Given the description of an element on the screen output the (x, y) to click on. 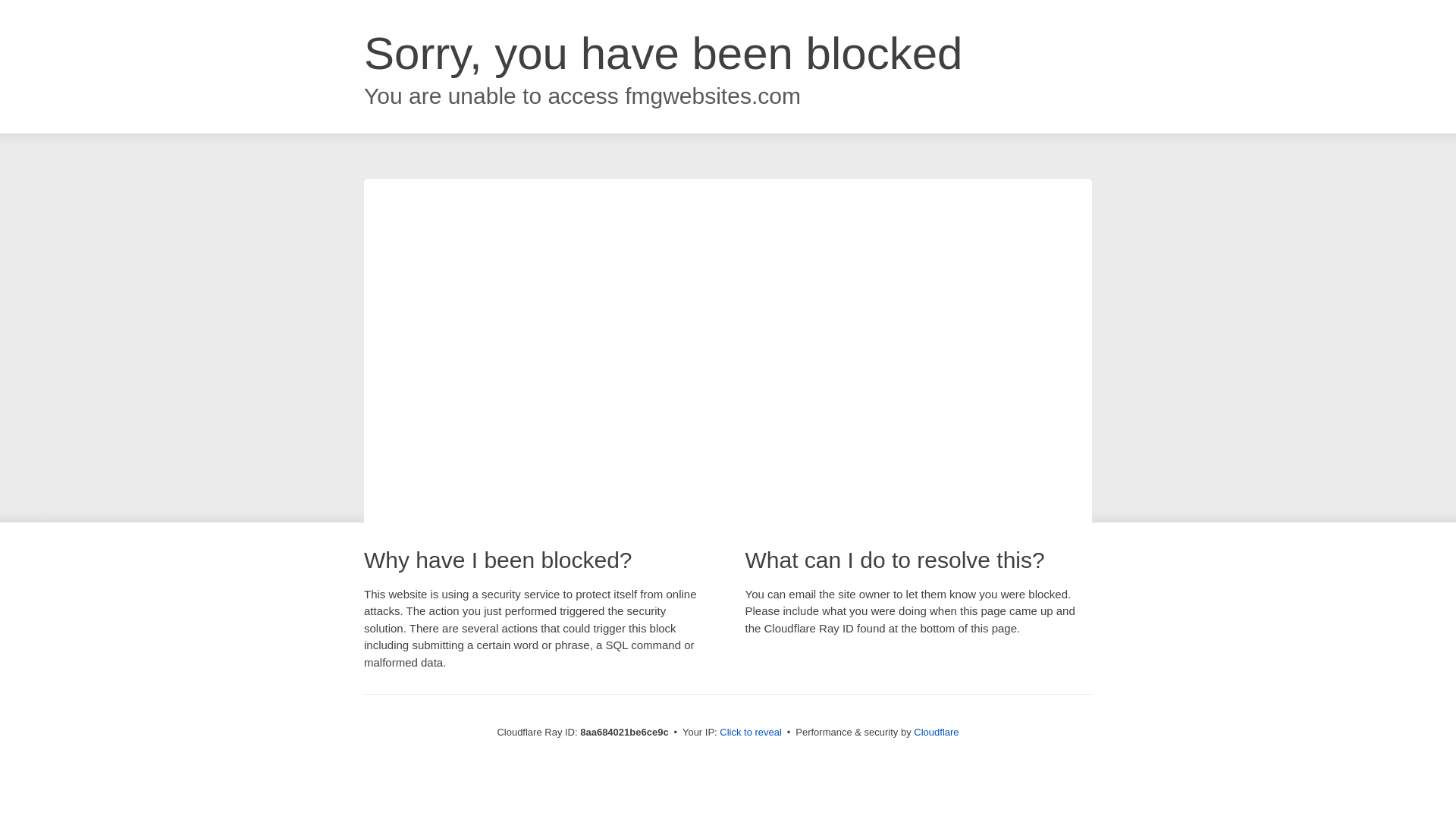
Cloudflare (936, 731)
Click to reveal (750, 732)
